Given the description of an element on the screen output the (x, y) to click on. 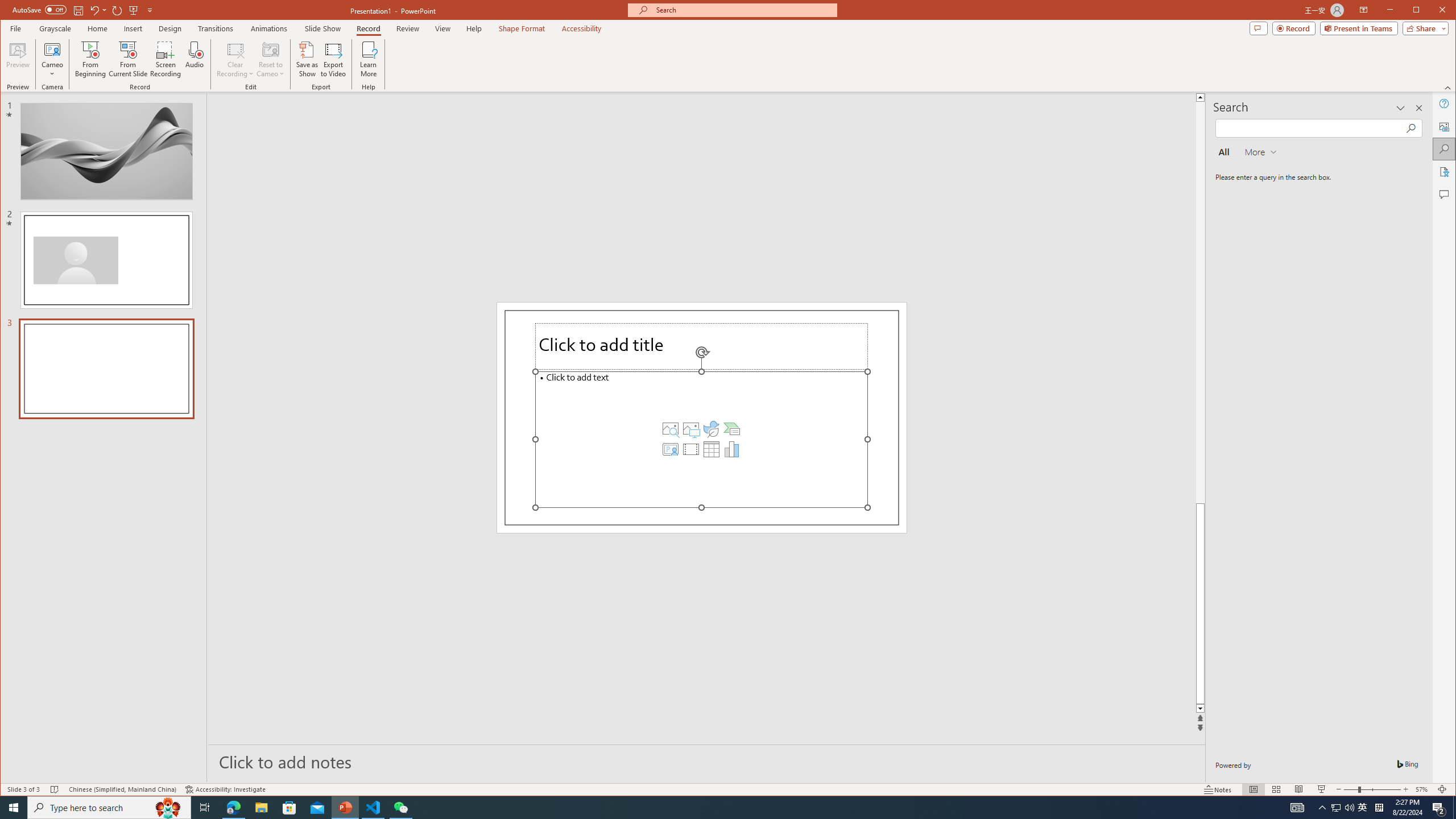
Insert a SmartArt Graphic (731, 428)
Stock Images (670, 428)
From Current Slide... (127, 59)
